Given the description of an element on the screen output the (x, y) to click on. 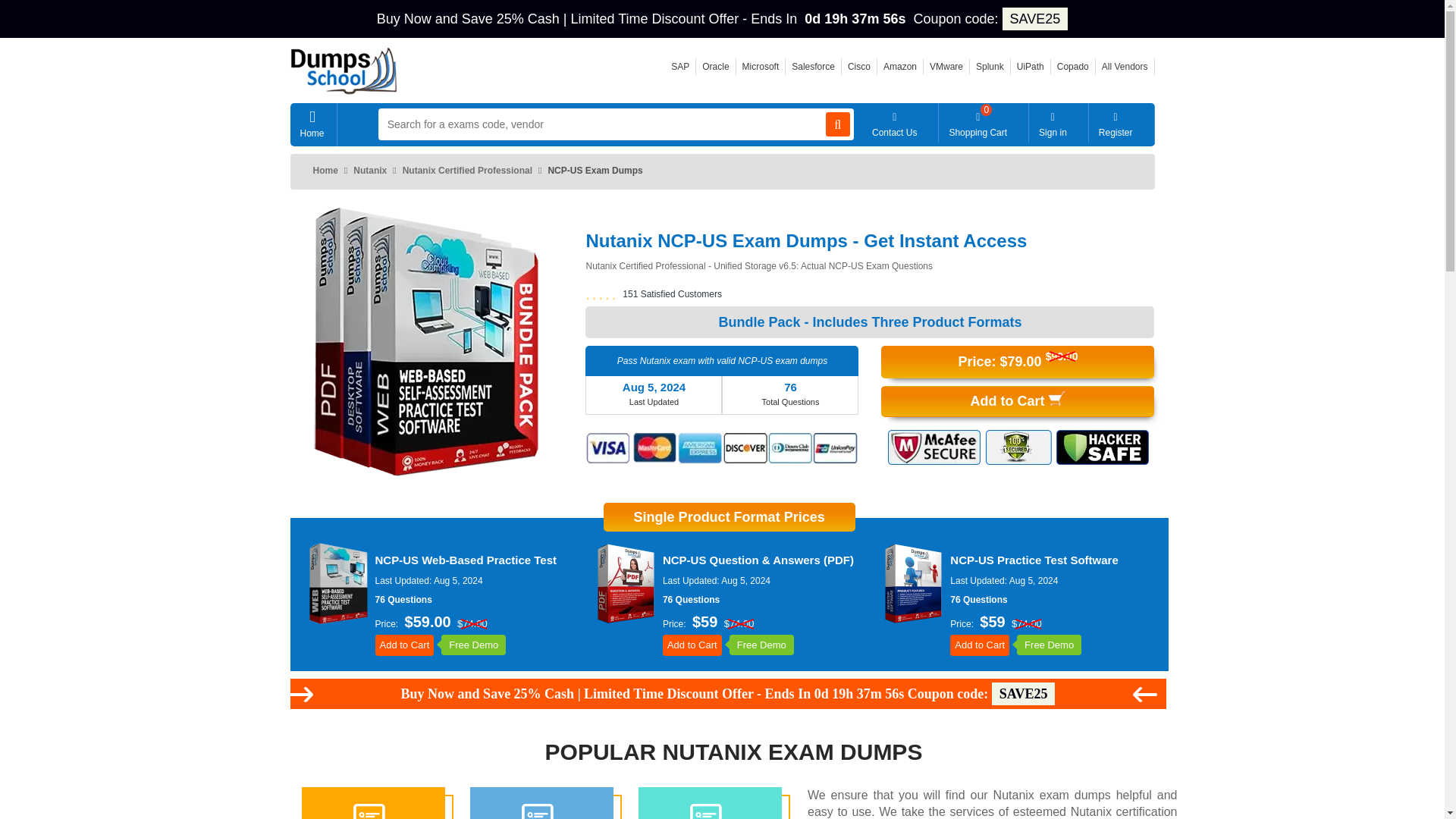
VMware (946, 66)
Oracle (715, 66)
Splunk (989, 66)
Add to Cart (1017, 400)
Register (1121, 122)
Free Demo (1048, 644)
Salesforce (813, 66)
Nutanix Certified Professional (467, 170)
Sign in (1058, 122)
